Given the description of an element on the screen output the (x, y) to click on. 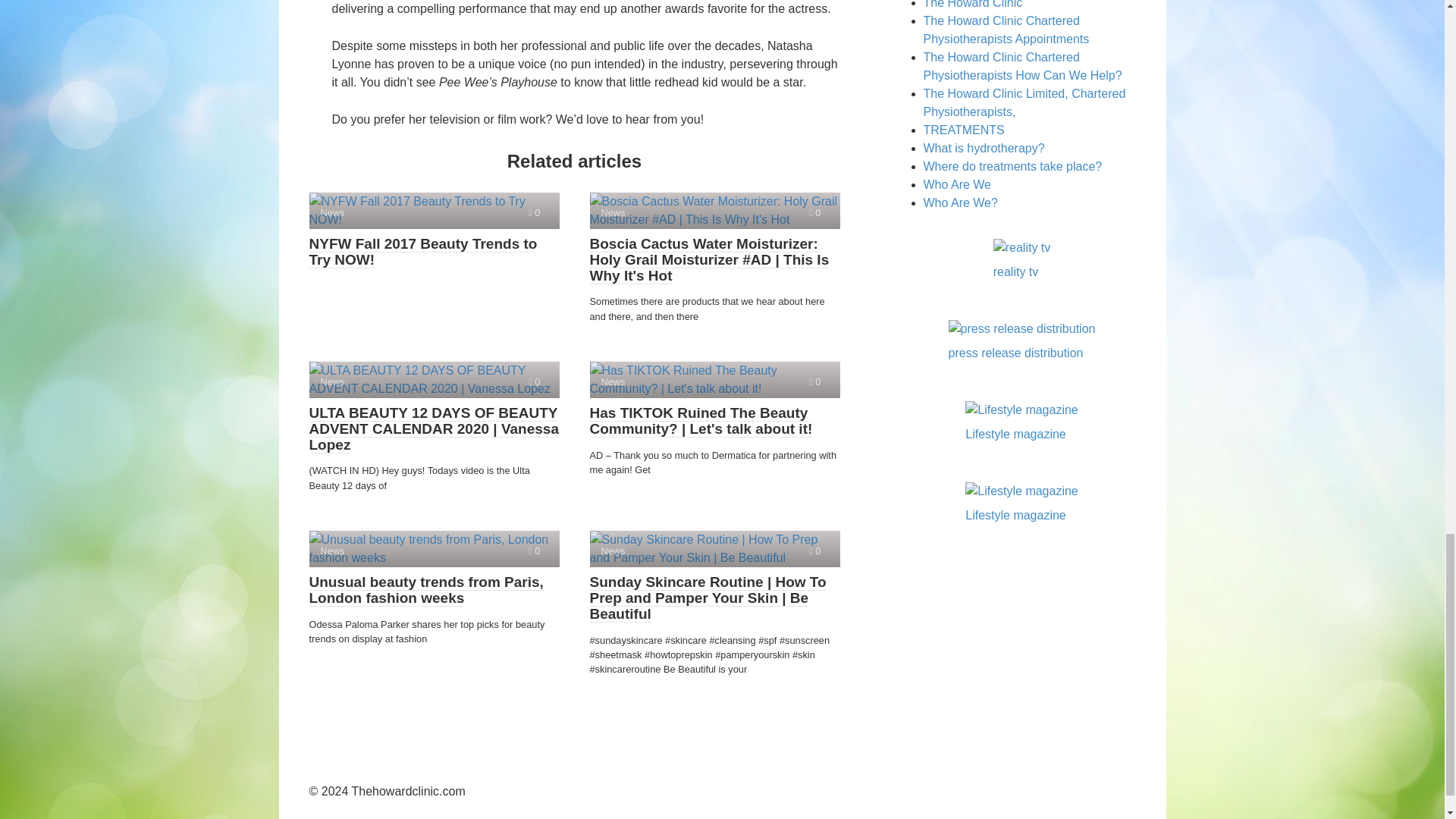
NYFW Fall 2017 Beauty Trends to Try NOW! (433, 210)
Comments (815, 381)
Comments (815, 212)
Comments (534, 212)
Unusual beauty trends from Paris, London fashion weeks (433, 548)
Comments (815, 550)
Comments (534, 550)
Comments (534, 381)
